Given the description of an element on the screen output the (x, y) to click on. 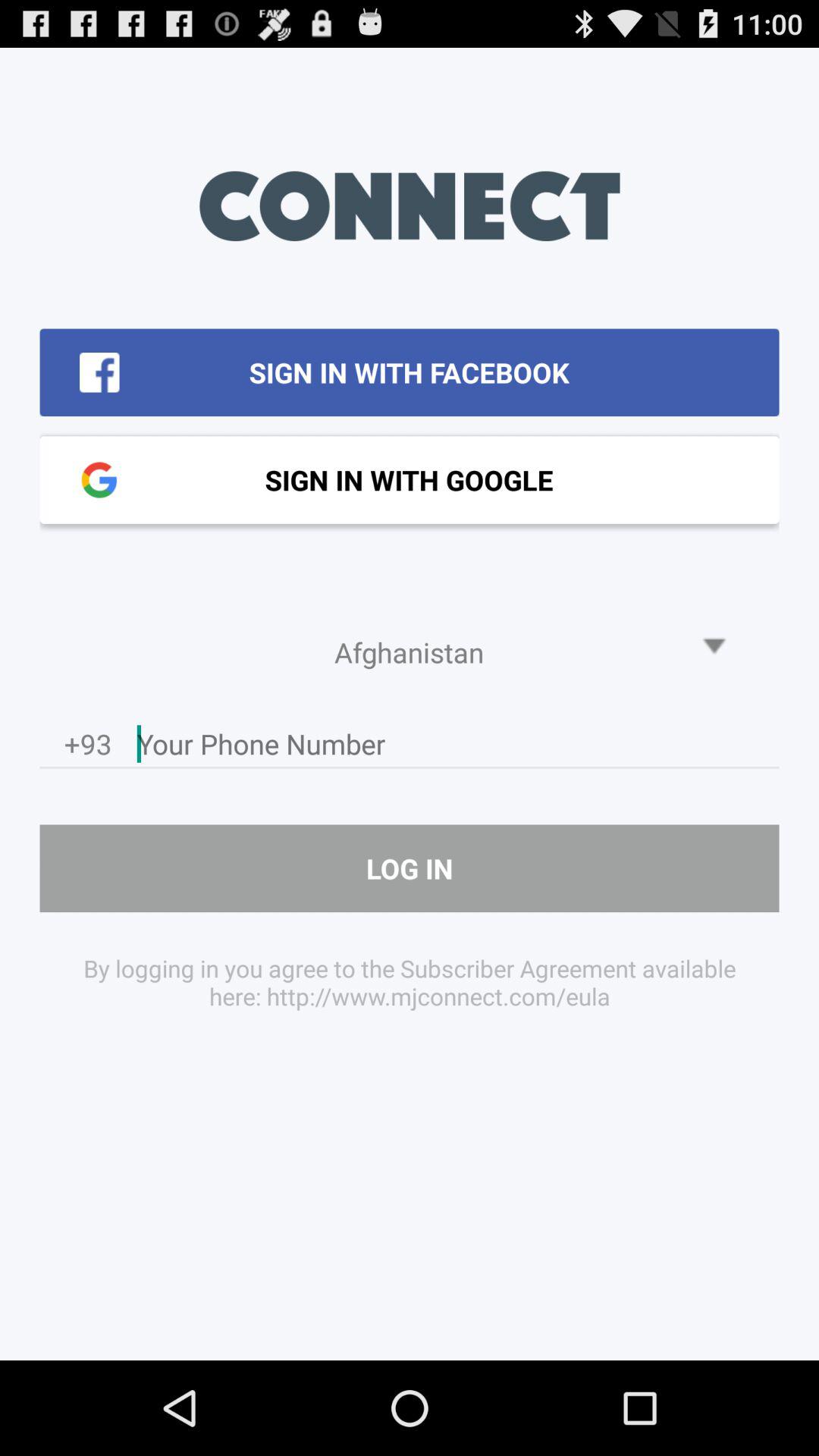
click icon above the log in item (458, 747)
